Given the description of an element on the screen output the (x, y) to click on. 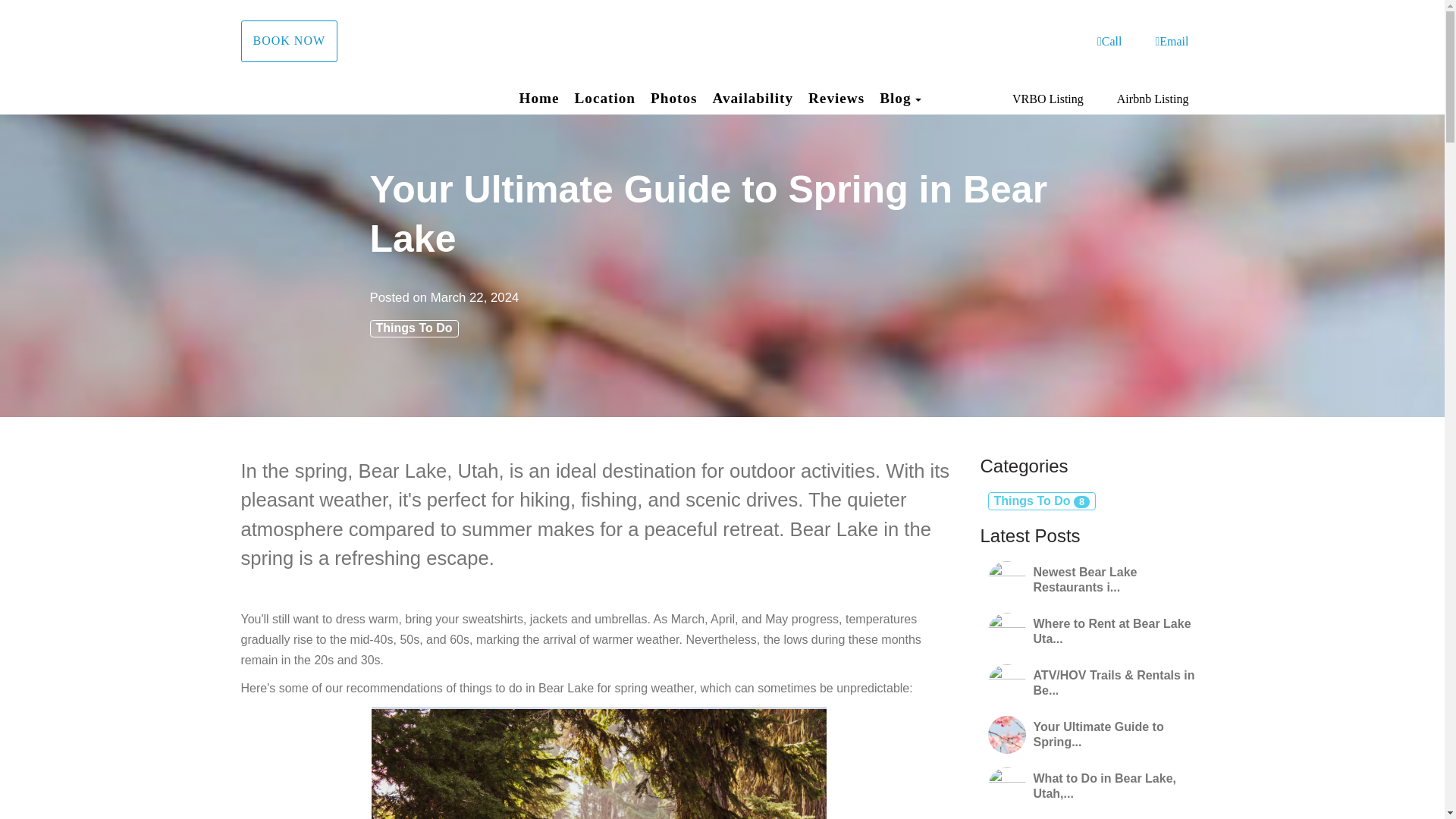
Blog (895, 98)
Home (539, 98)
Bear Lake Monster Themed House (722, 41)
Email (1171, 41)
BOOK NOW (289, 41)
Airbnb Listing (1152, 98)
Location (605, 98)
Reviews (836, 98)
Call (1109, 41)
Photos (673, 98)
Availability (752, 98)
VRBO Listing (1047, 98)
